Given the description of an element on the screen output the (x, y) to click on. 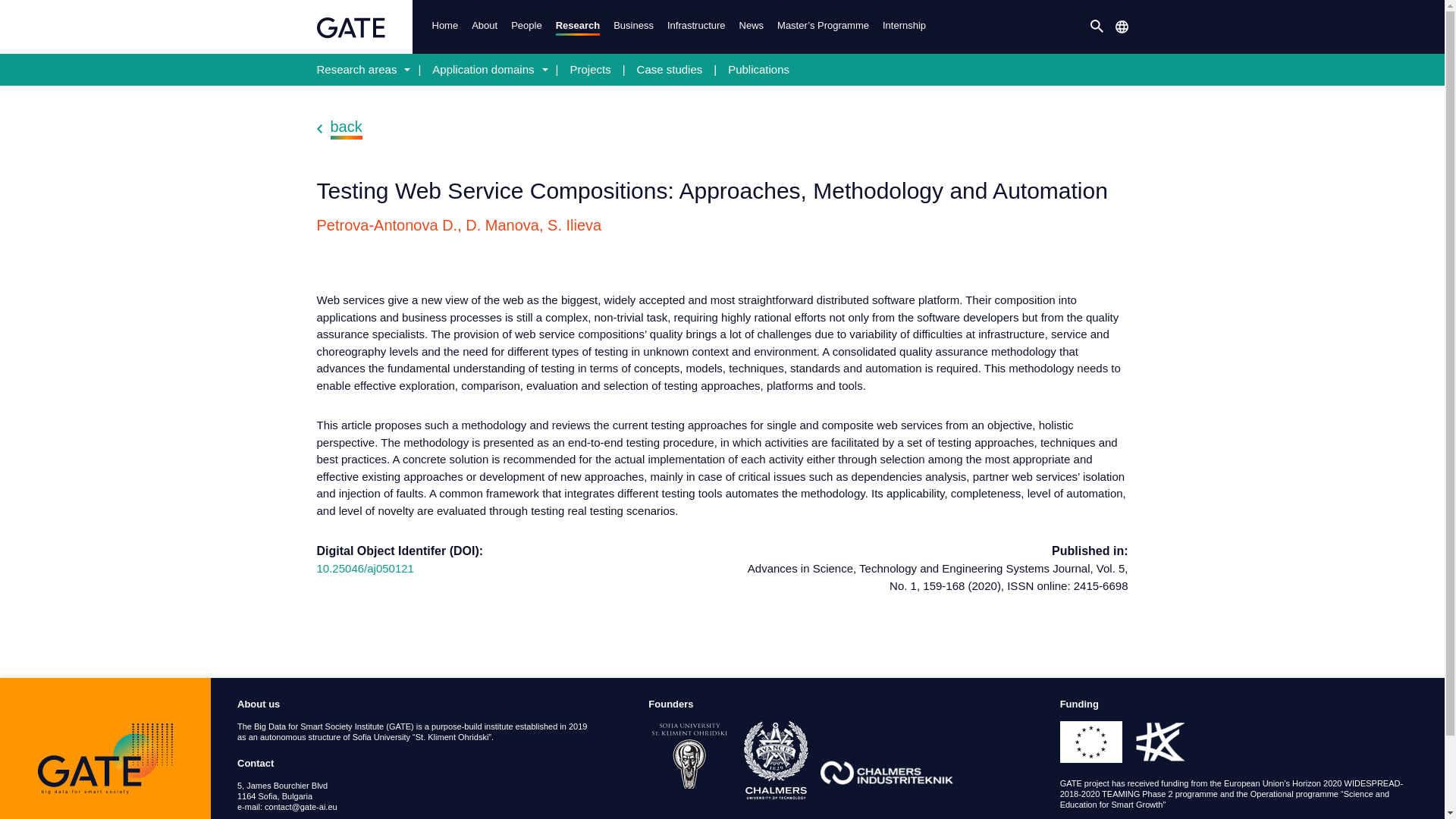
About (483, 26)
Infrastructure (695, 26)
About (483, 26)
People (525, 26)
Research (577, 25)
Home (444, 26)
Home (444, 26)
People (525, 26)
Research (577, 25)
Business (632, 26)
